Given the description of an element on the screen output the (x, y) to click on. 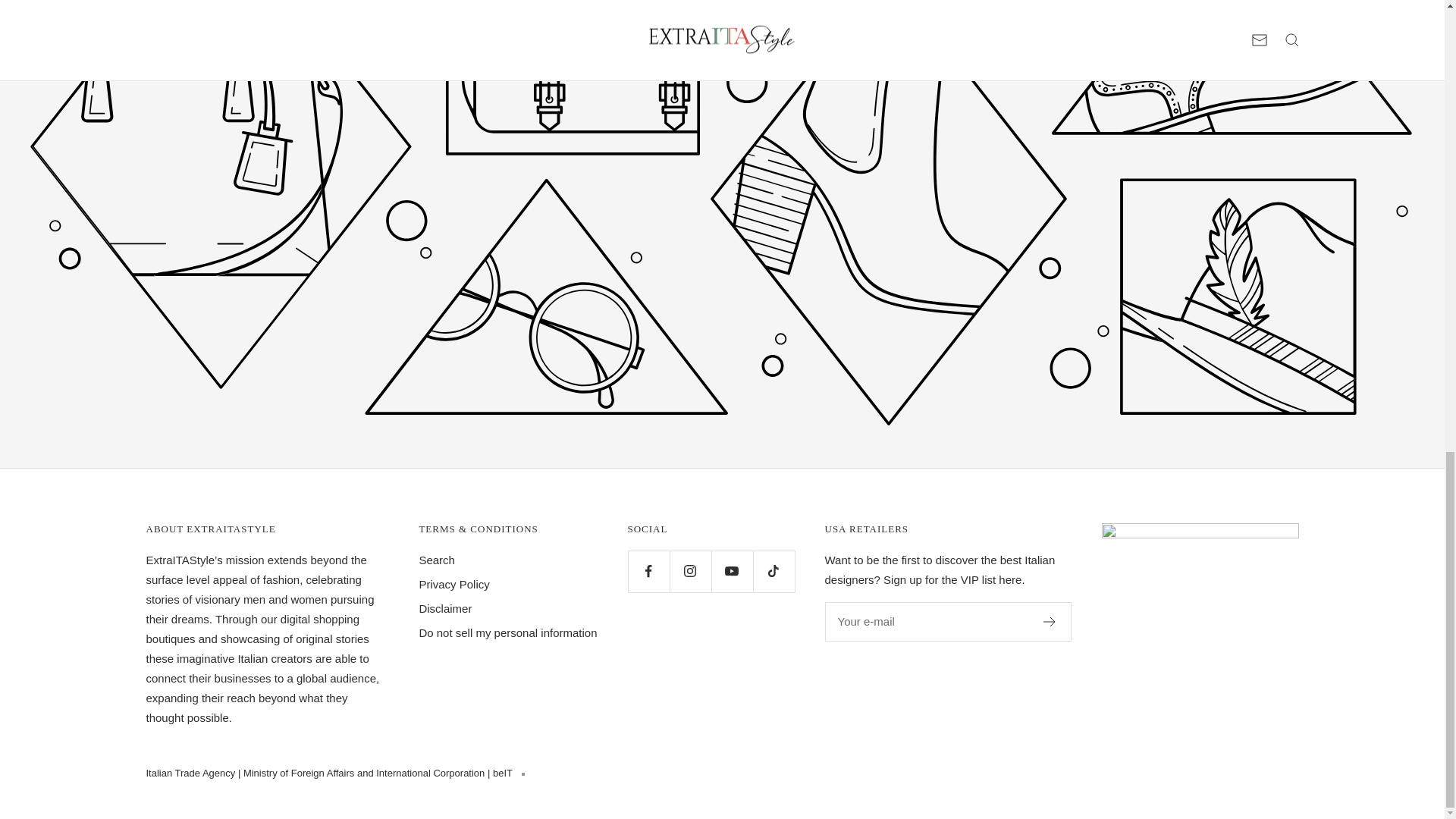
Search (436, 560)
Disclaimer (445, 608)
Register (1050, 621)
Privacy Policy (454, 584)
Do not sell my personal information (507, 632)
